Given the description of an element on the screen output the (x, y) to click on. 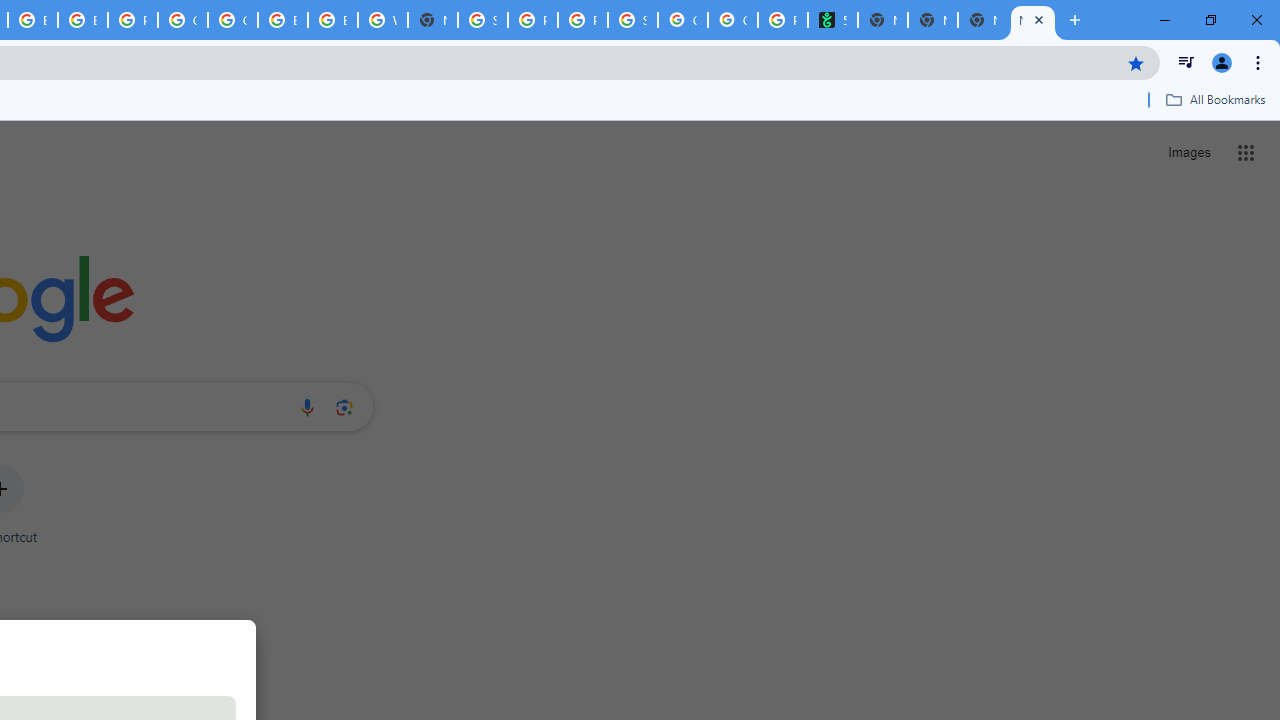
New Tab (433, 20)
Google Cloud Platform (232, 20)
New Tab (932, 20)
Browse Chrome as a guest - Computer - Google Chrome Help (283, 20)
New Tab (1032, 20)
